Given the description of an element on the screen output the (x, y) to click on. 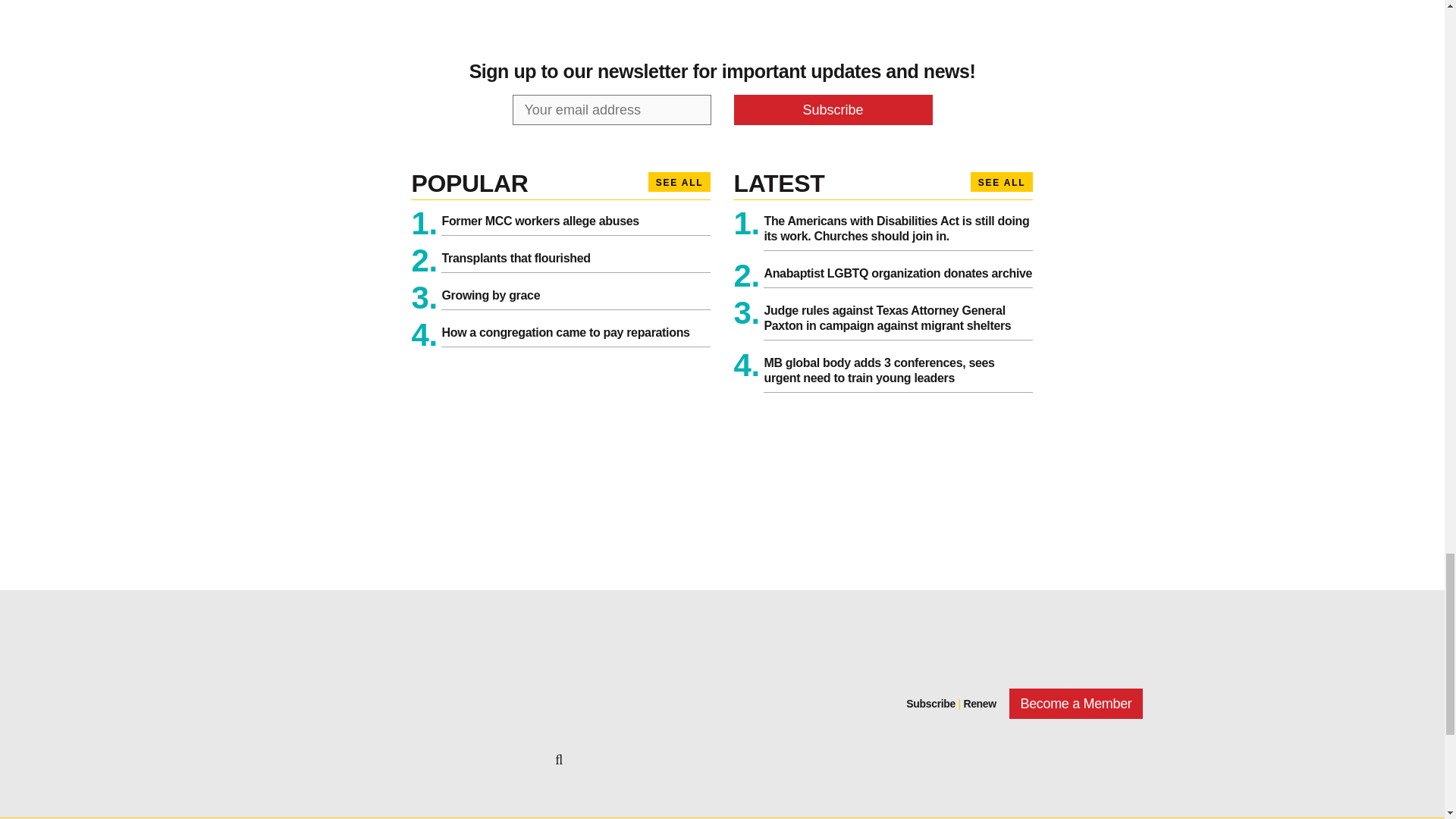
Subscribe (833, 110)
